Given the description of an element on the screen output the (x, y) to click on. 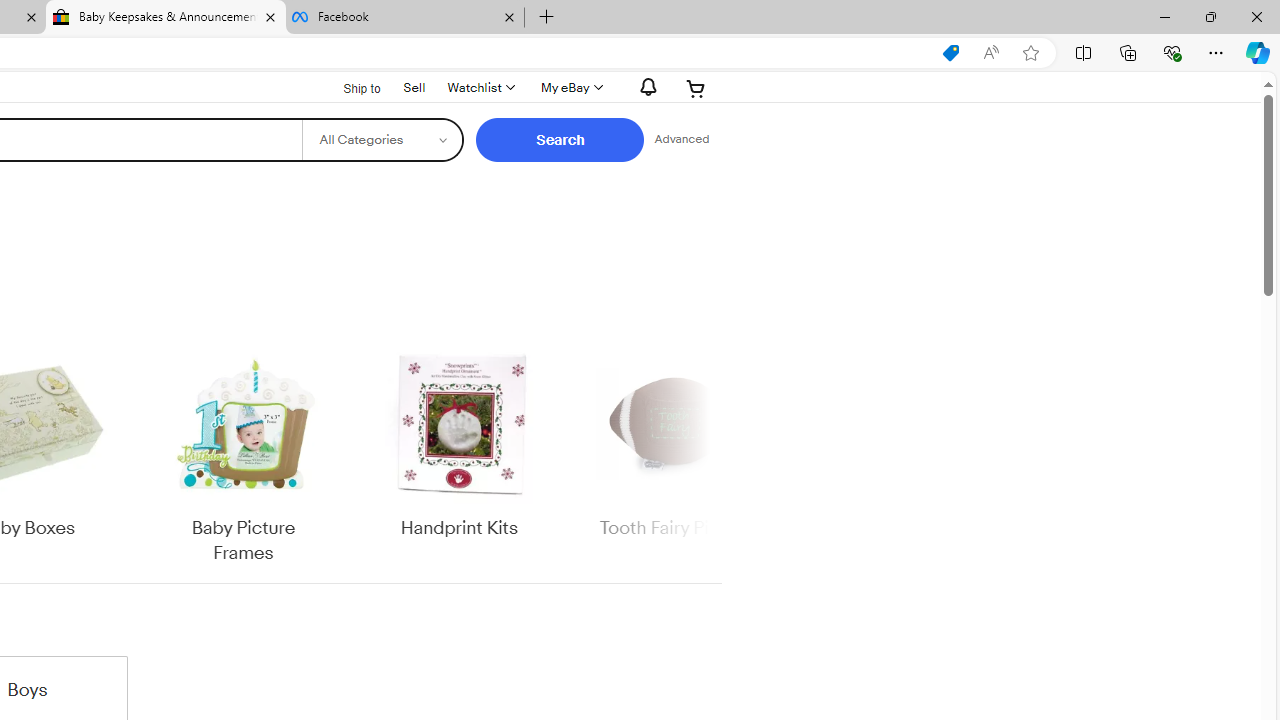
Sell (413, 86)
Watchlist (479, 88)
Handprint Kits (459, 455)
Baby Picture Frames (243, 455)
Your shopping cart (696, 88)
My eBayExpand My eBay (569, 88)
Select a category for search (382, 139)
Handprint Kits (459, 443)
